Given the description of an element on the screen output the (x, y) to click on. 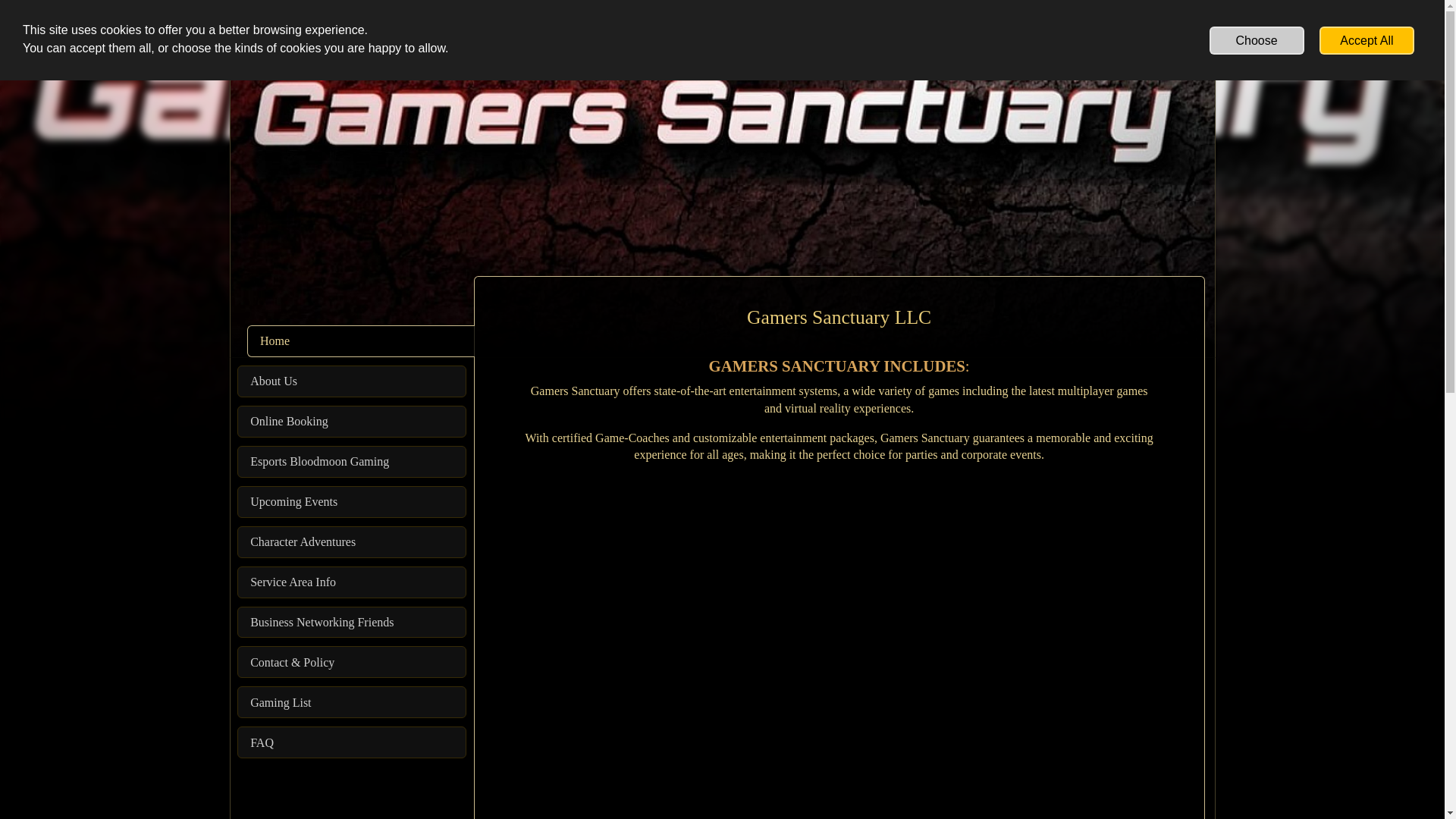
Choose (1256, 40)
About Us (351, 381)
Upcoming Events (351, 501)
Home (360, 341)
Online Booking (351, 421)
Service Area Info (351, 582)
Gaming List (351, 702)
FAQ (351, 742)
Esports Bloodmoon Gaming (351, 461)
